Given the description of an element on the screen output the (x, y) to click on. 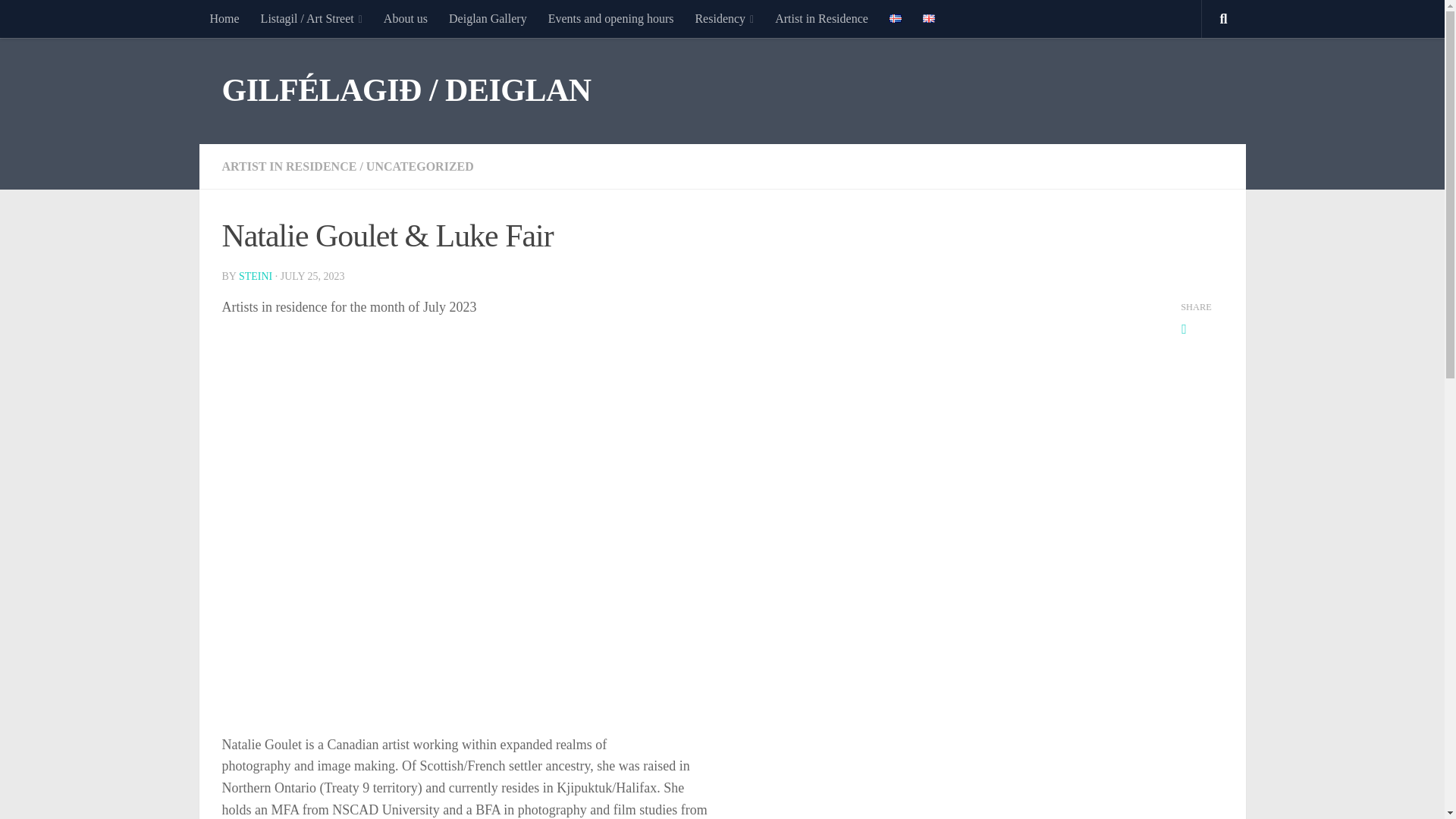
Skip to content (59, 20)
Artist in Residence (821, 18)
Residency (724, 18)
Home (223, 18)
About us (405, 18)
Posts by Steini (255, 276)
Deiglan Gallery (487, 18)
Events and opening hours (610, 18)
